Given the description of an element on the screen output the (x, y) to click on. 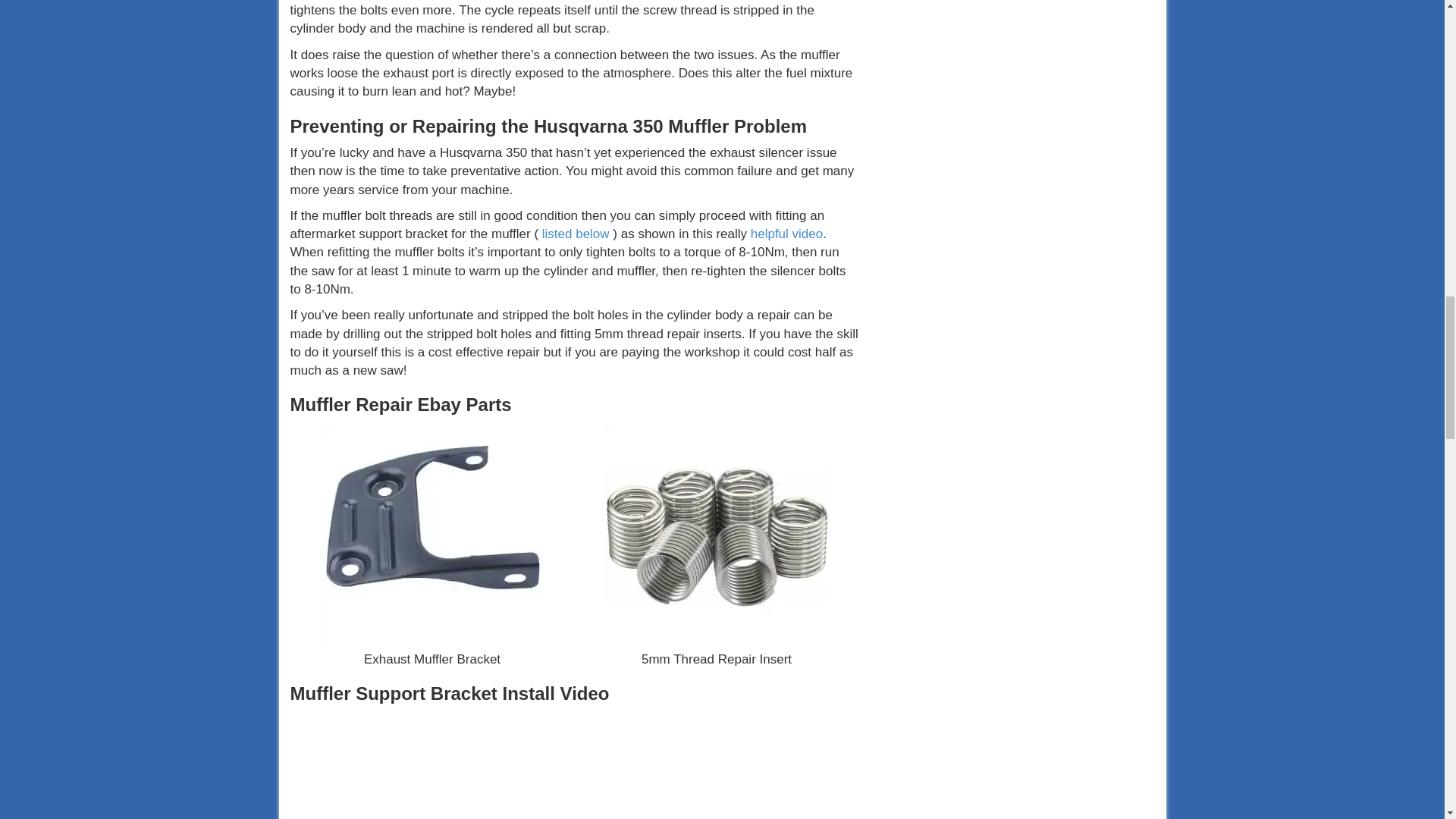
helpful video (786, 233)
listed below (575, 233)
